Given the description of an element on the screen output the (x, y) to click on. 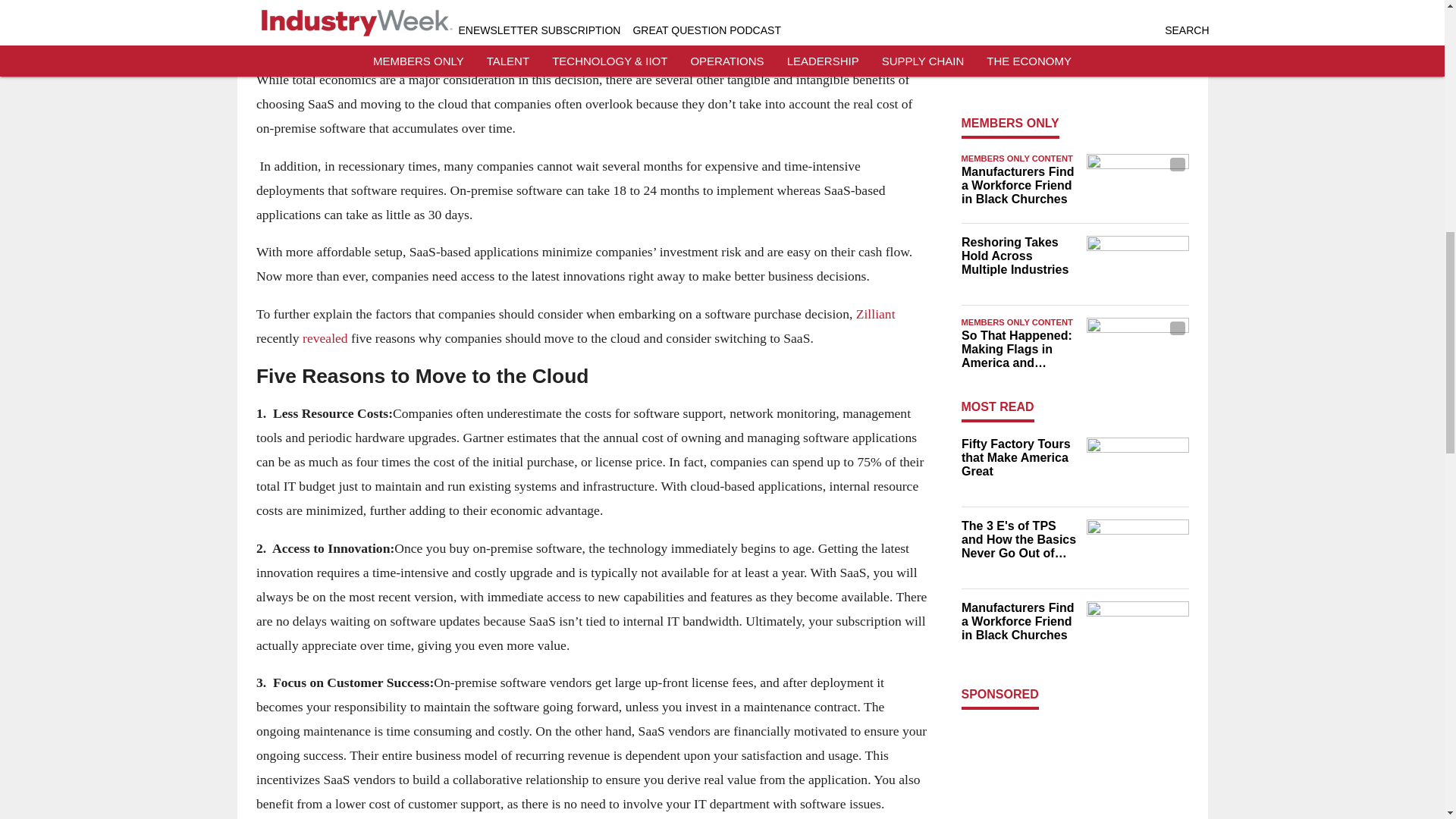
Manufacturers Find a Workforce Friend in Black Churches (1019, 185)
revealed (324, 337)
MEMBERS ONLY (1009, 123)
Reshoring Takes Hold Across Multiple Industries (1019, 255)
Zilliant (875, 313)
Gartner (370, 42)
